Given the description of an element on the screen output the (x, y) to click on. 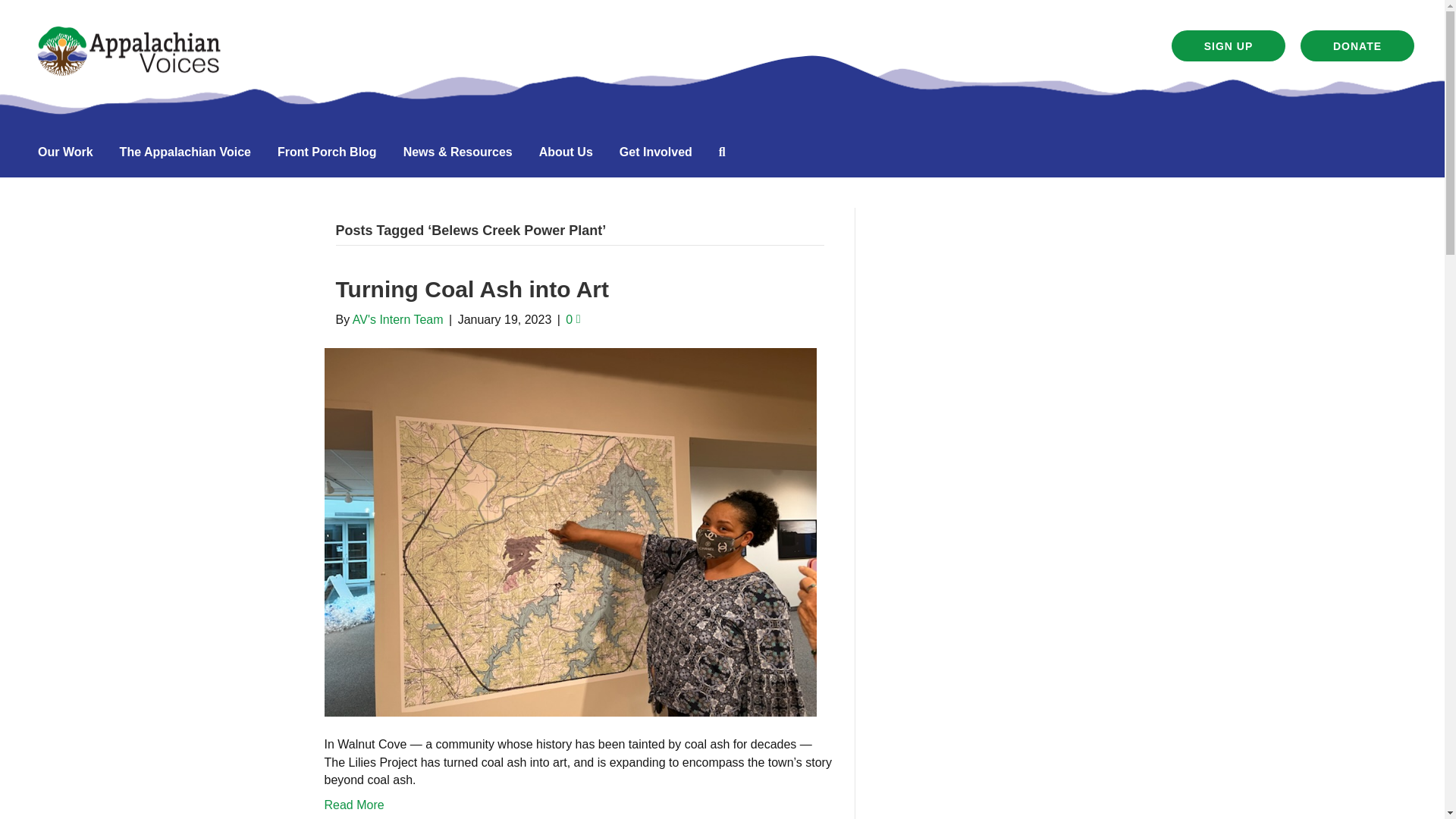
AppVoices-logo-color (128, 50)
Turning Coal Ash into Art (471, 289)
SIGN UP (1228, 45)
About Us (565, 151)
Our Work (65, 151)
Turning Coal Ash into Art (570, 530)
The Appalachian Voice (185, 151)
Front Porch Blog (326, 151)
DONATE (1356, 45)
Get Involved (655, 151)
